Given the description of an element on the screen output the (x, y) to click on. 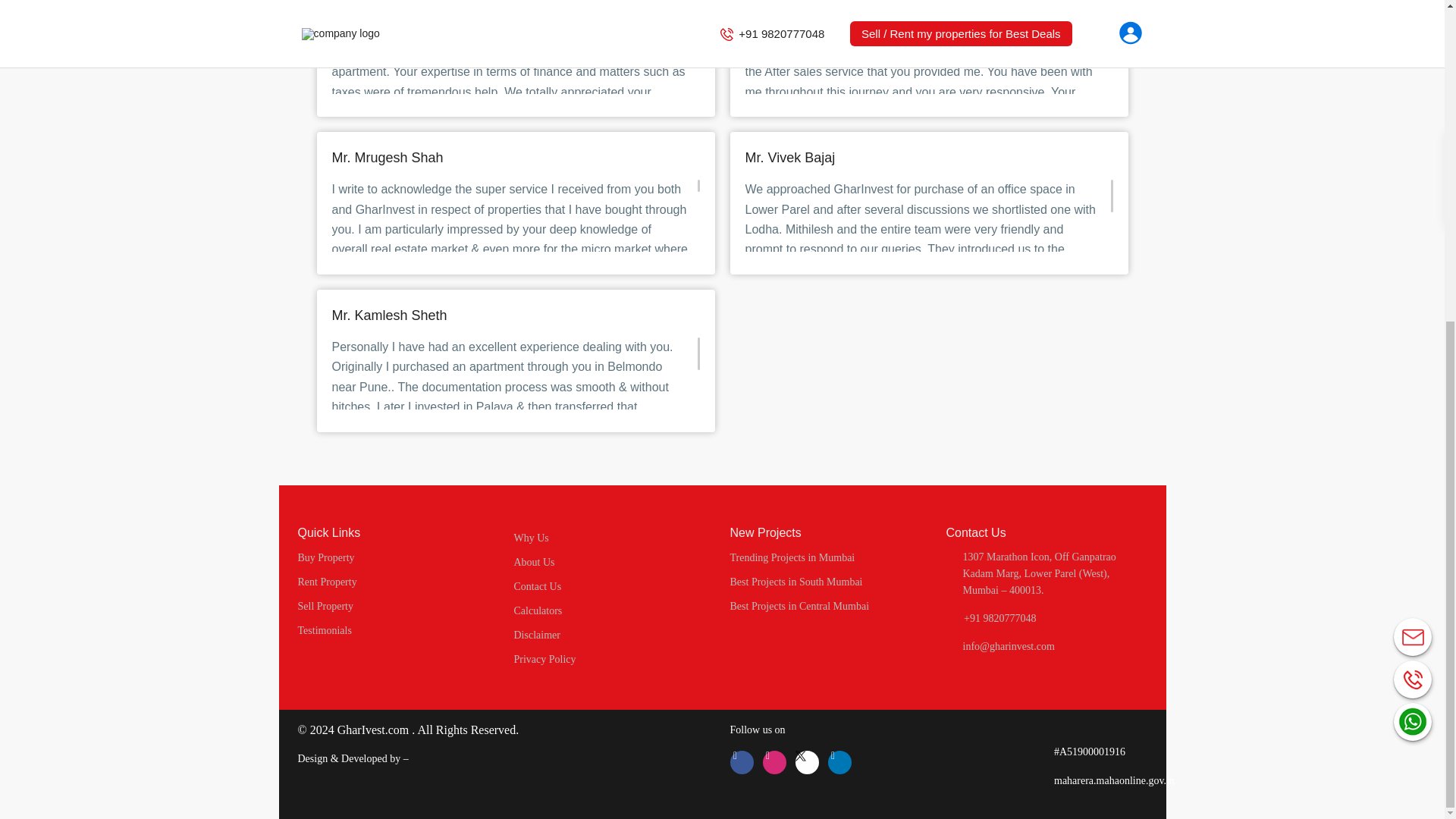
Sell Property (325, 605)
Testimonials (323, 630)
Disclaimer (536, 634)
Buy Property (325, 557)
About Us (533, 562)
Rent Property (326, 582)
Calculators (537, 610)
Best Projects in South Mumbai (795, 582)
Why Us (530, 537)
Trending Projects in Mumbai (791, 557)
Privacy Policy (544, 659)
Best Projects in Central Mumbai (799, 605)
Contact Us (537, 586)
